Given the description of an element on the screen output the (x, y) to click on. 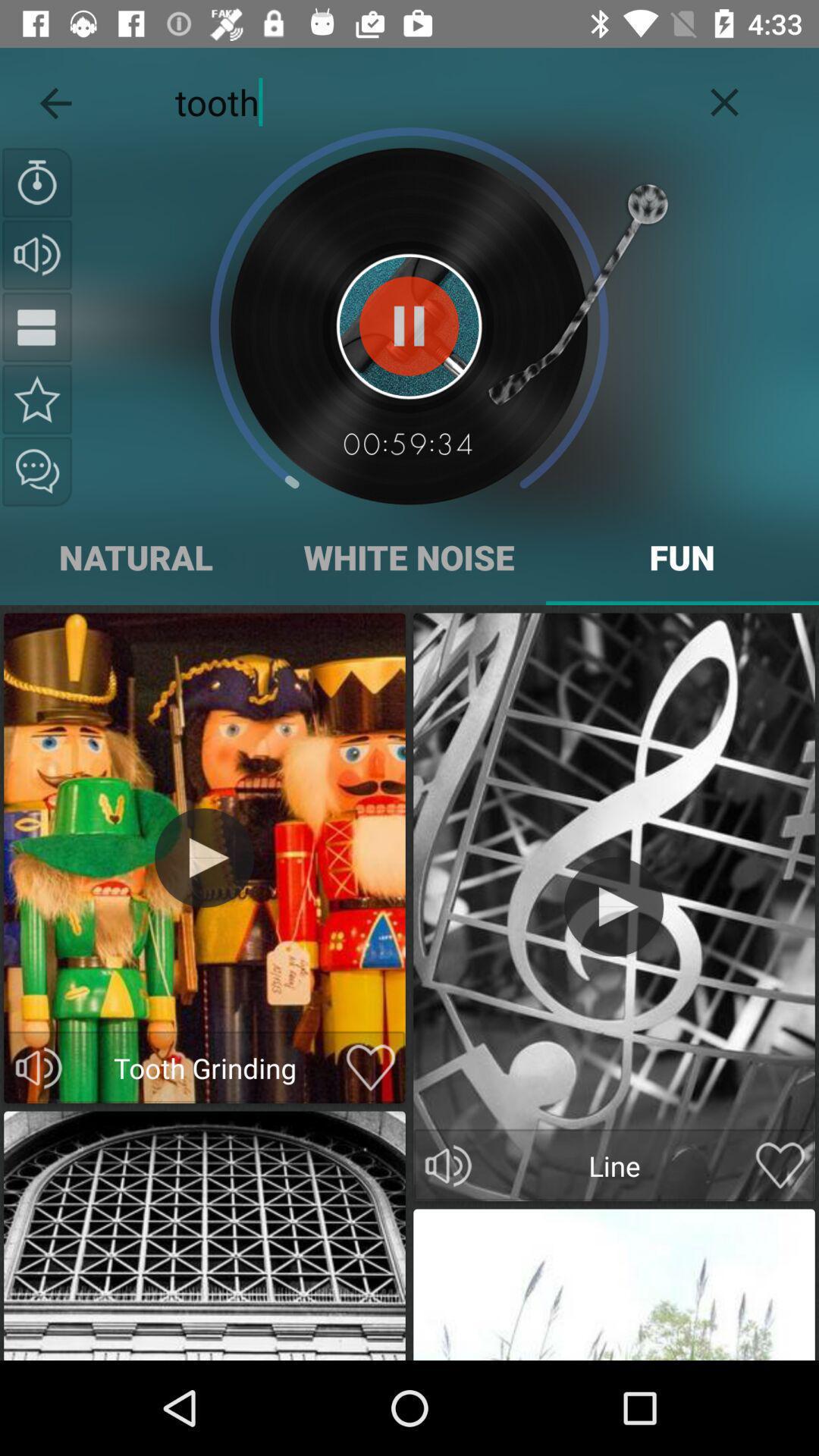
pause music (408, 325)
